Given the description of an element on the screen output the (x, y) to click on. 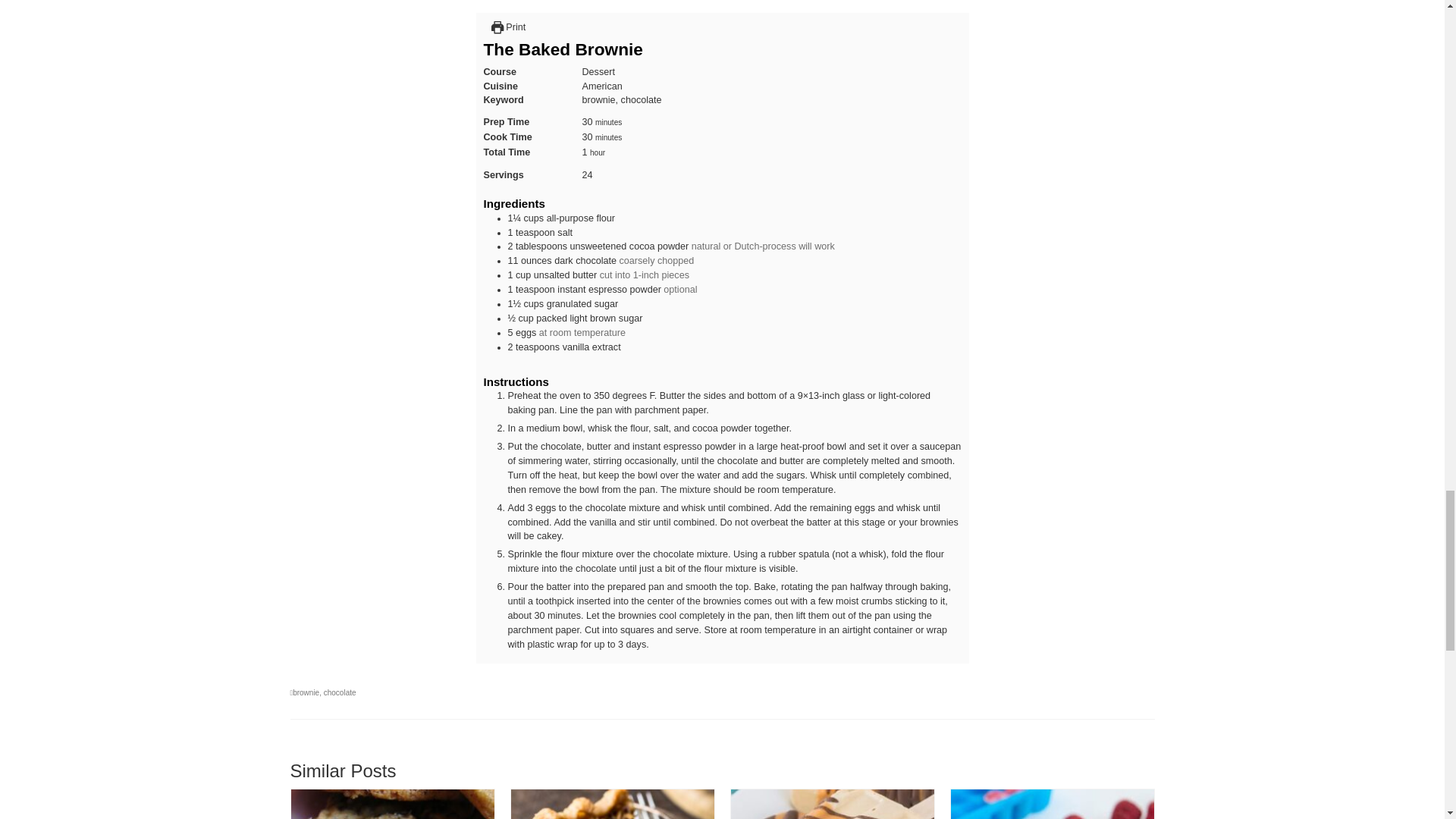
20 Delicious 2-Ingredient Dessert Recipes You Want to Try (1052, 804)
brownie (305, 692)
Print (508, 27)
chocolate (339, 692)
My FAVORITE Chocolate Chip Cookie (393, 804)
15 Delicious and Easy No-Bake Desserts (832, 804)
Classic Pecan Pie Recipe (612, 804)
